Given the description of an element on the screen output the (x, y) to click on. 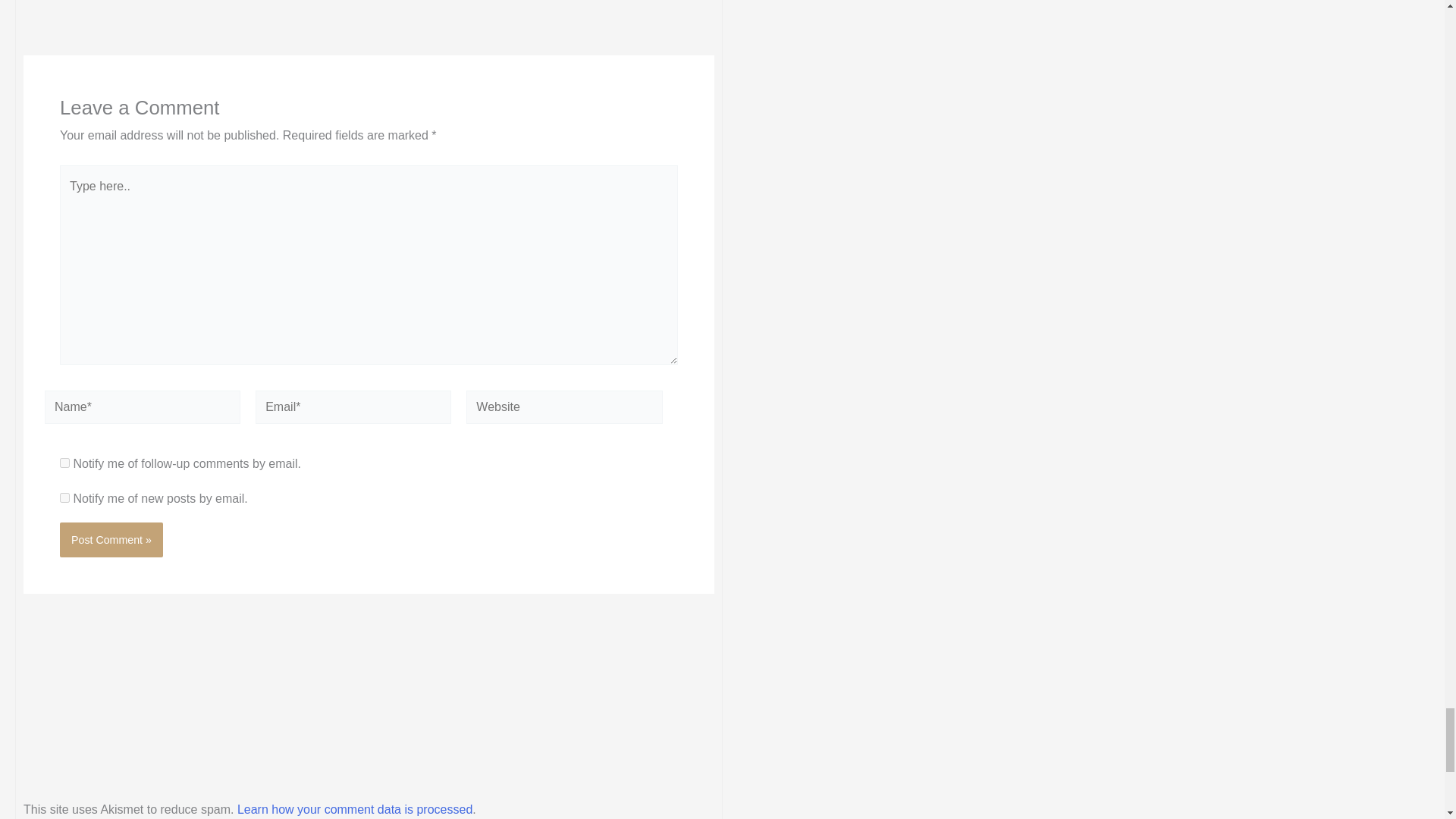
subscribe (64, 497)
subscribe (64, 462)
